Given the description of an element on the screen output the (x, y) to click on. 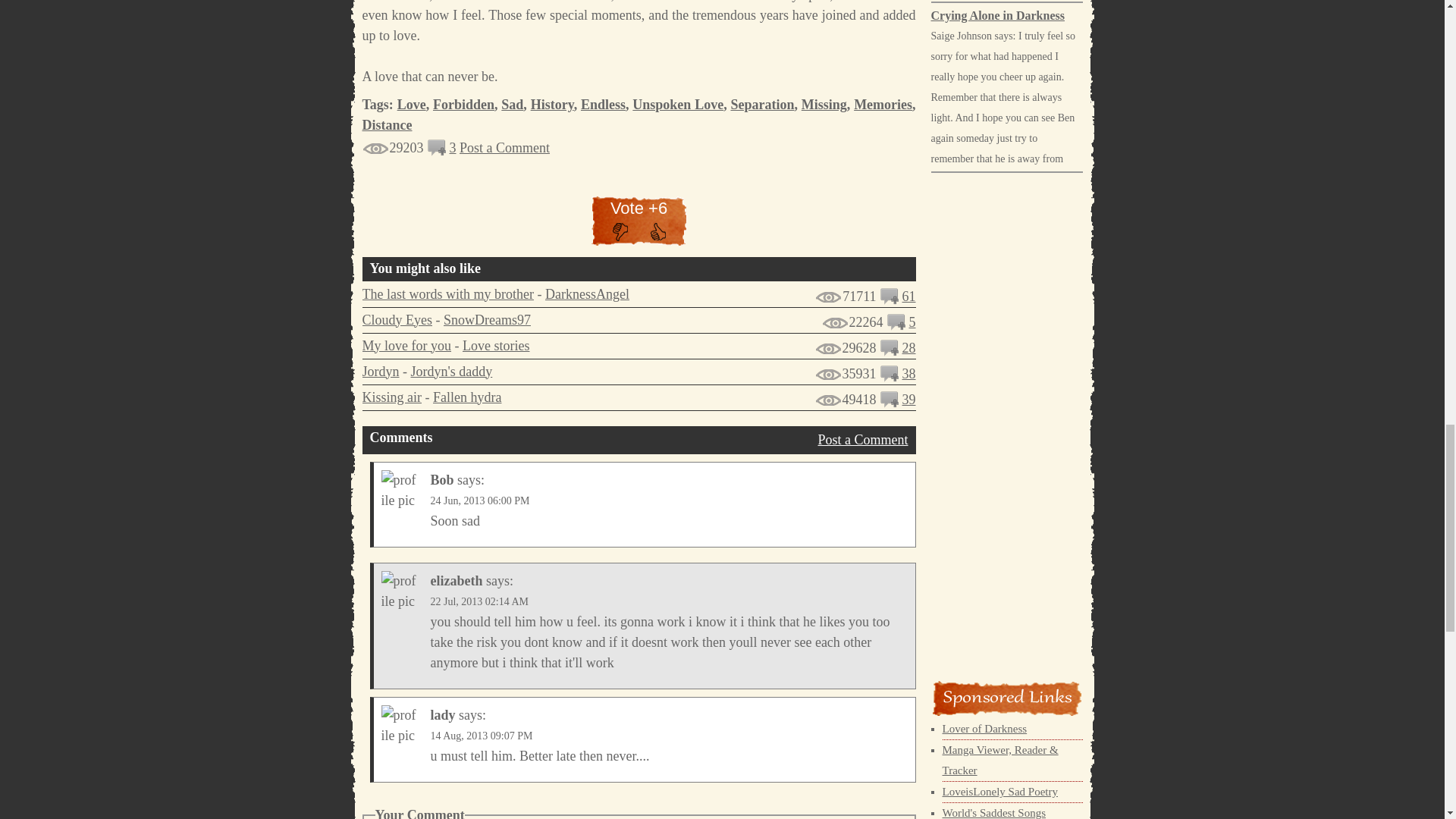
Post a Comment (505, 147)
61 (908, 296)
Post a comment (890, 351)
Cloudy Eyes (397, 319)
Total Visited 22264 Times (852, 322)
History (552, 104)
Unspoken Love (677, 104)
Post a comment (897, 325)
Memories (882, 104)
Post a comment (890, 299)
Forbidden (463, 104)
DarknessAngel (586, 294)
Read Comments (908, 296)
Sad (511, 104)
Love (411, 104)
